Given the description of an element on the screen output the (x, y) to click on. 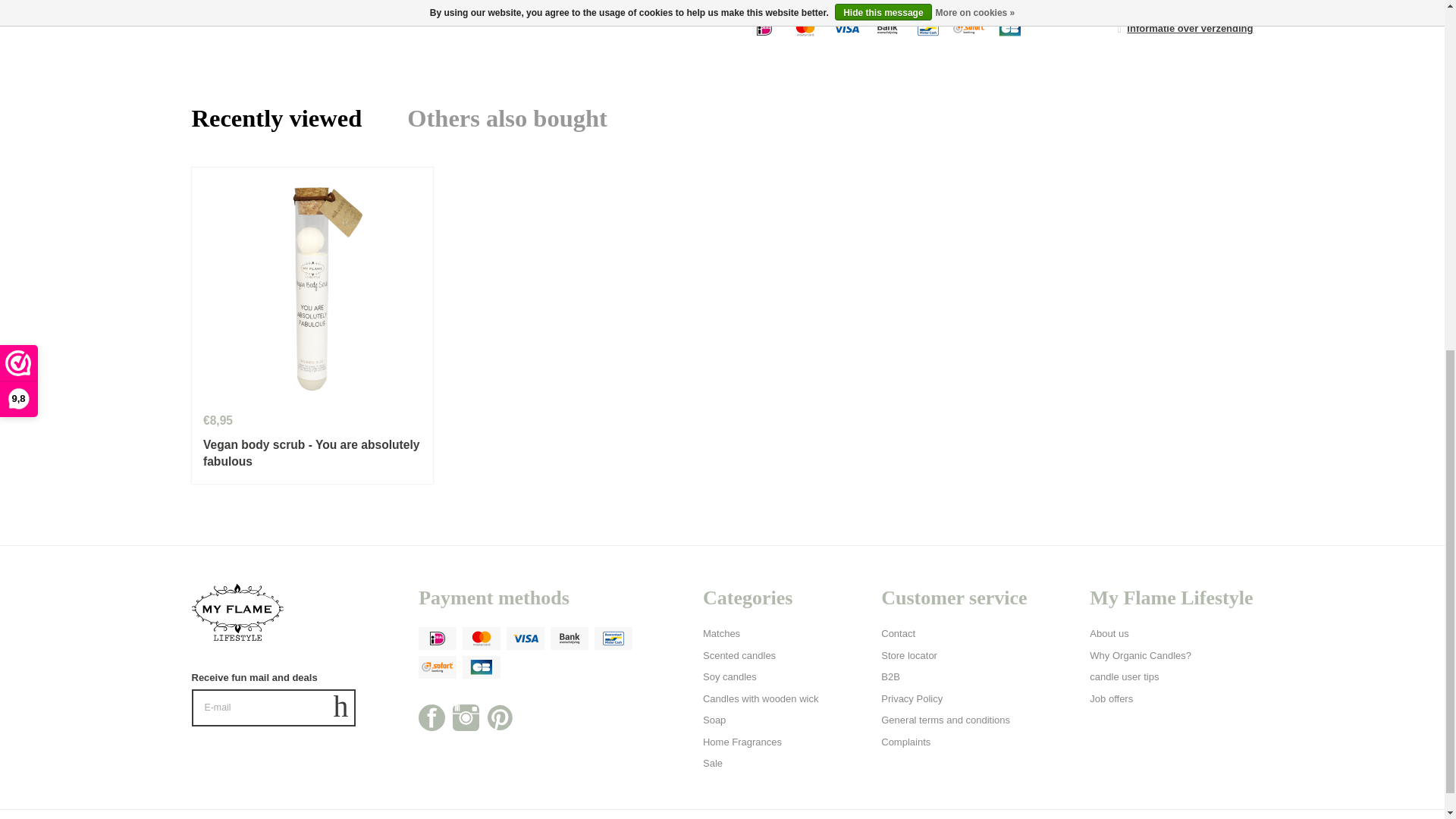
1 (765, 1)
